Given the description of an element on the screen output the (x, y) to click on. 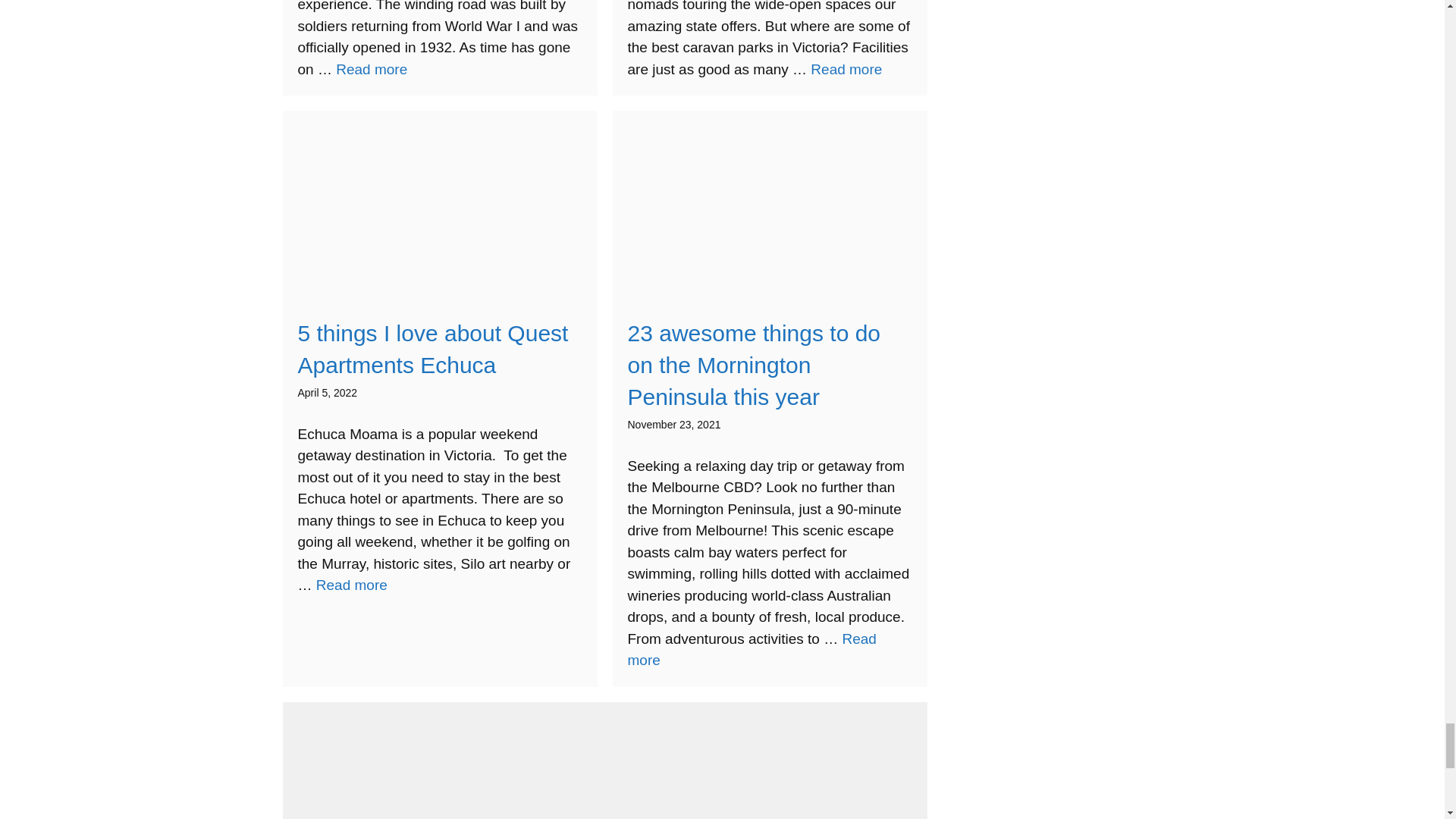
5 things I love about Quest Apartments Echuca (351, 584)
22 amazing things to do on the Great Ocean Road (371, 68)
12 of the very best caravan parks in Victoria (846, 68)
